Given the description of an element on the screen output the (x, y) to click on. 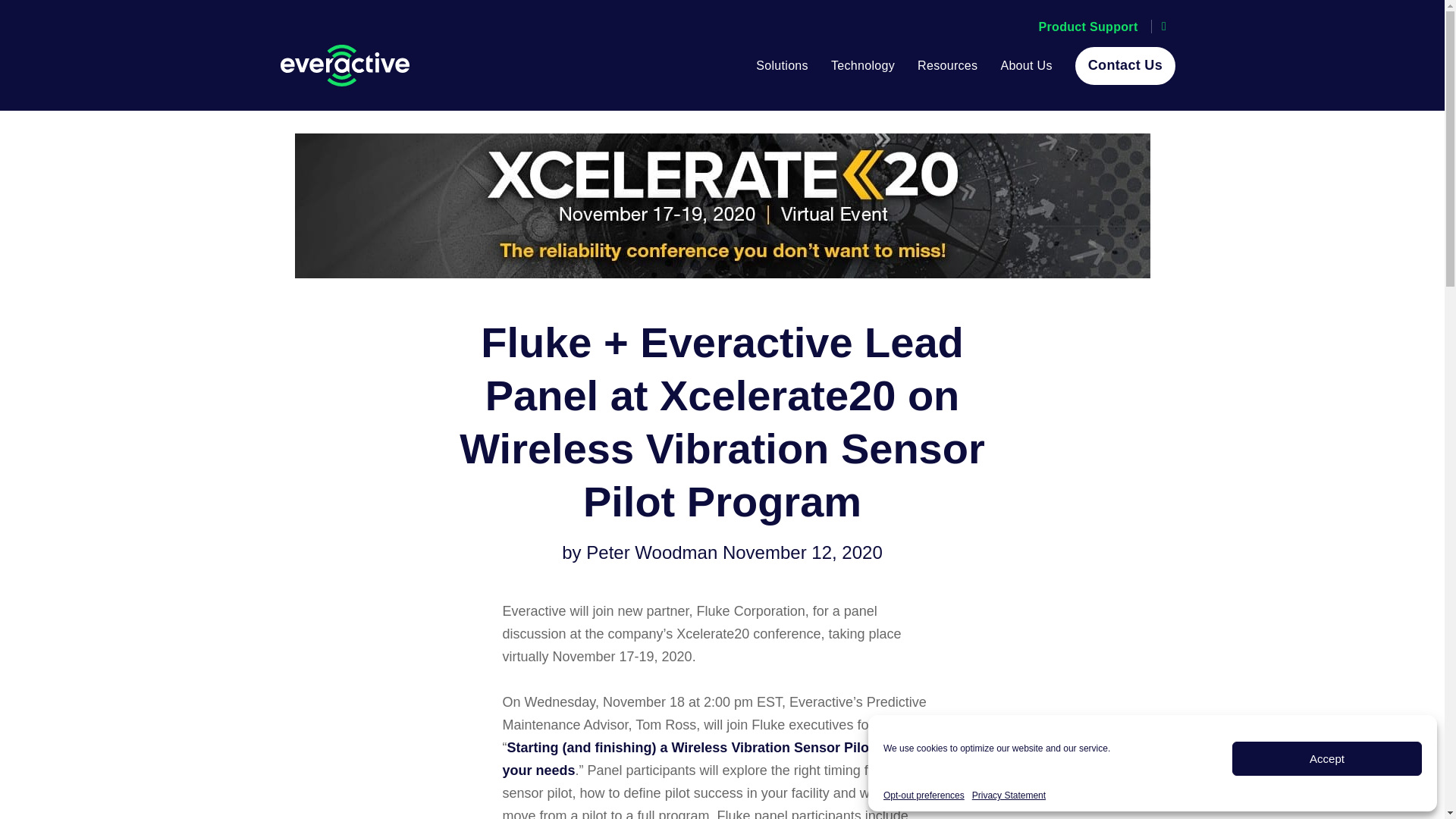
Resources (946, 65)
Evercloud Login (1088, 27)
Privacy Statement (1008, 795)
Accept (1326, 758)
About Us (1025, 65)
Solutions (781, 65)
Technology (863, 65)
Product Support (1088, 27)
Opt-out preferences (923, 795)
Contact Us (1124, 65)
